Given the description of an element on the screen output the (x, y) to click on. 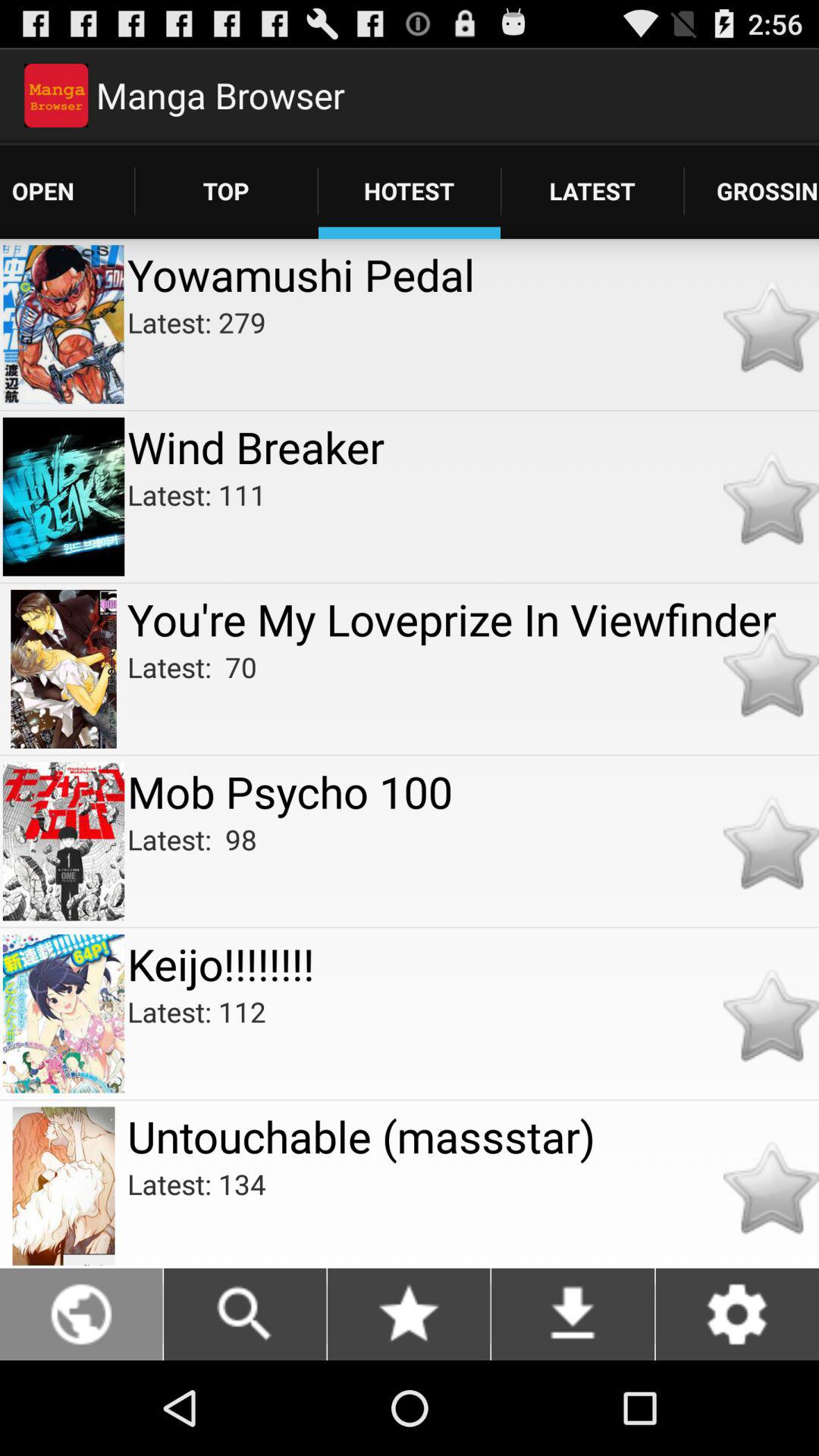
choose icon above the latest: 134 icon (473, 1135)
